Given the description of an element on the screen output the (x, y) to click on. 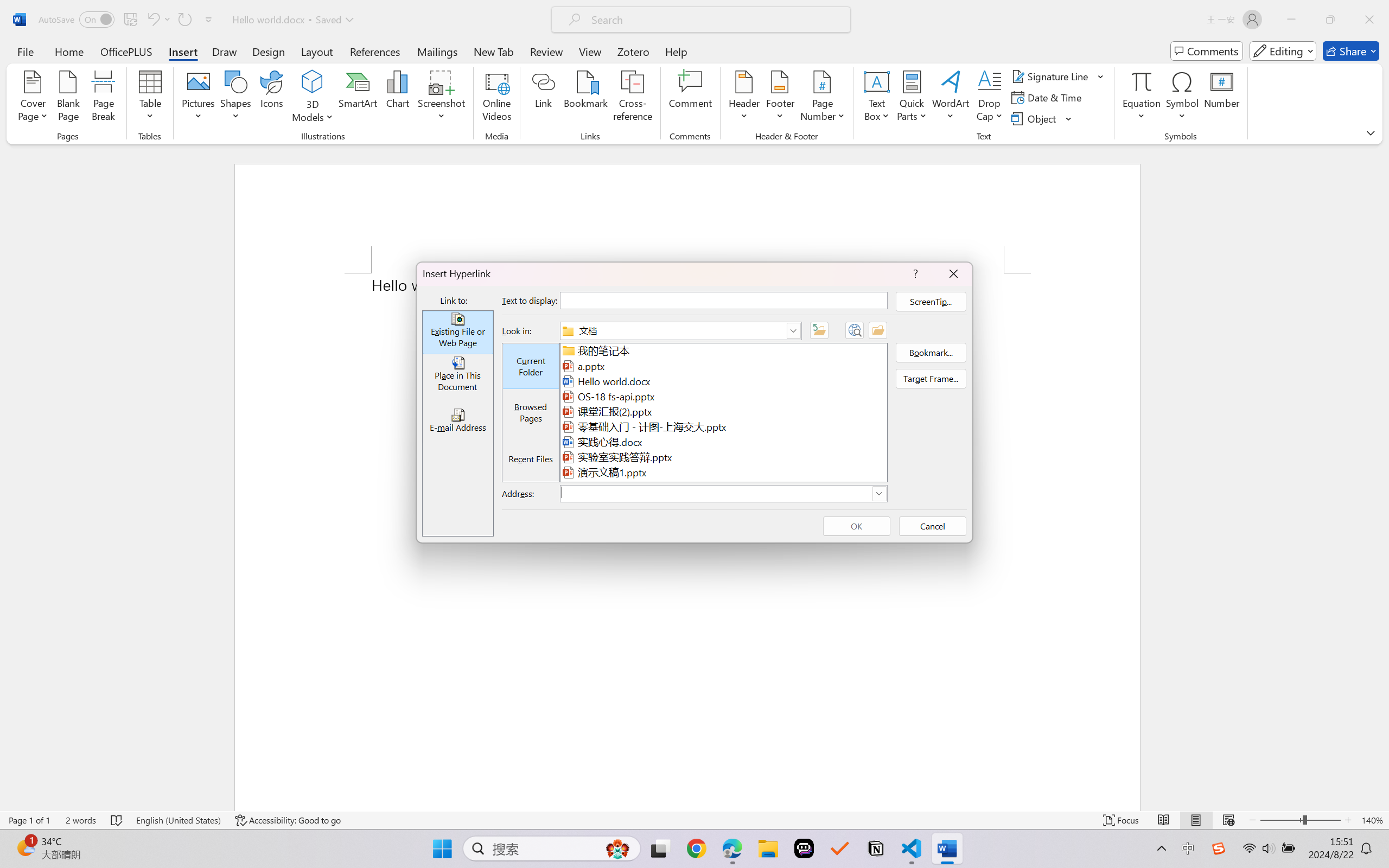
E-mail Address (457, 420)
Zoom (1300, 819)
Zoom In (1348, 819)
Current Folder (530, 366)
Browse for File (877, 330)
Quick Access Toolbar (127, 19)
Browsed Pages (530, 412)
Cancel (932, 525)
AutomationID: BadgeAnchorLargeTicker (24, 847)
SmartArt... (358, 97)
Mode (1283, 50)
Spelling and Grammar Check No Errors (117, 819)
AutoSave (76, 19)
Print Layout (1196, 819)
